Given the description of an element on the screen output the (x, y) to click on. 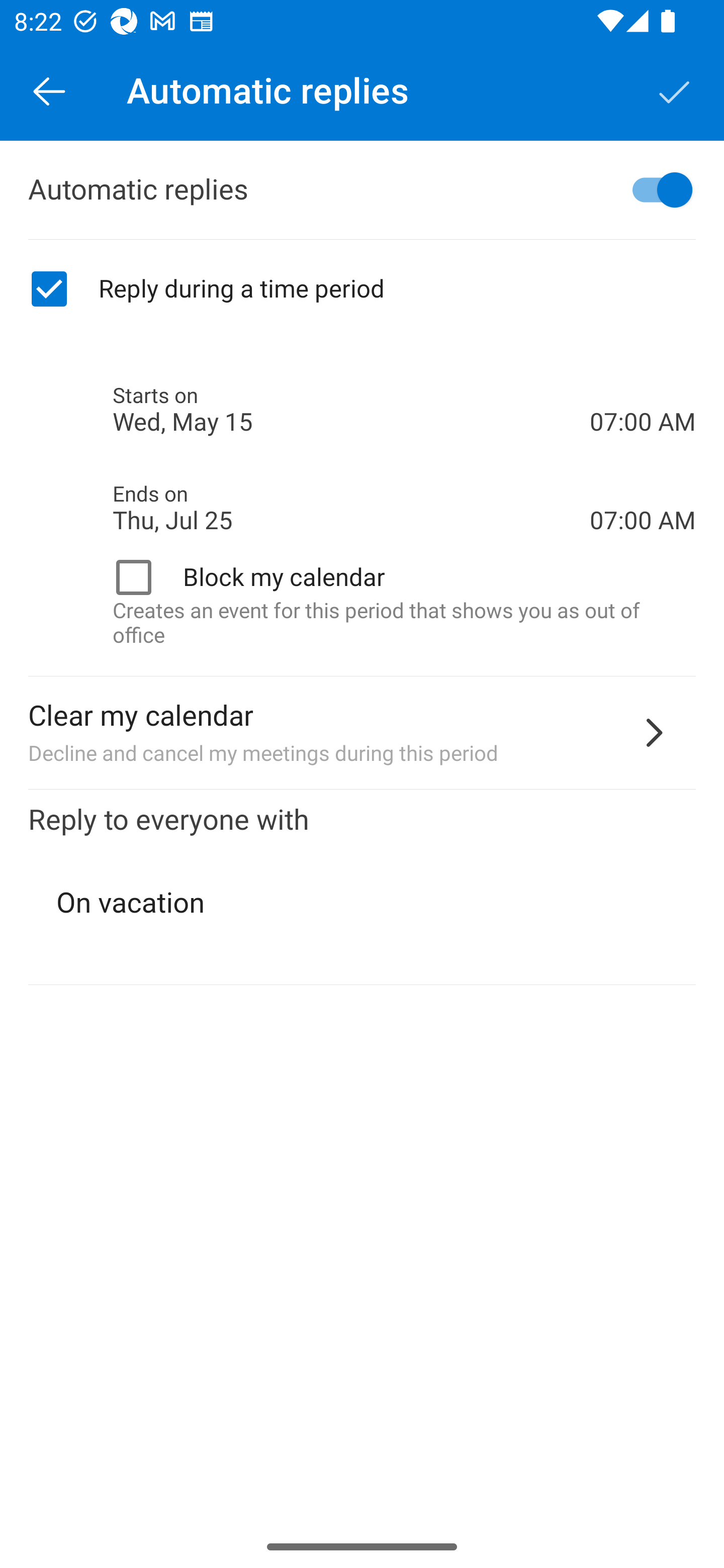
Back (49, 90)
Save (674, 90)
Automatic replies (362, 190)
Reply during a time period (362, 288)
07:00 AM (642, 387)
Starts on Wed, May 15 (351, 409)
07:00 AM (642, 485)
Ends on Thu, Jul 25 (351, 507)
Reply to everyone with Edit box On vacation (361, 887)
On vacation (363, 902)
